Given the description of an element on the screen output the (x, y) to click on. 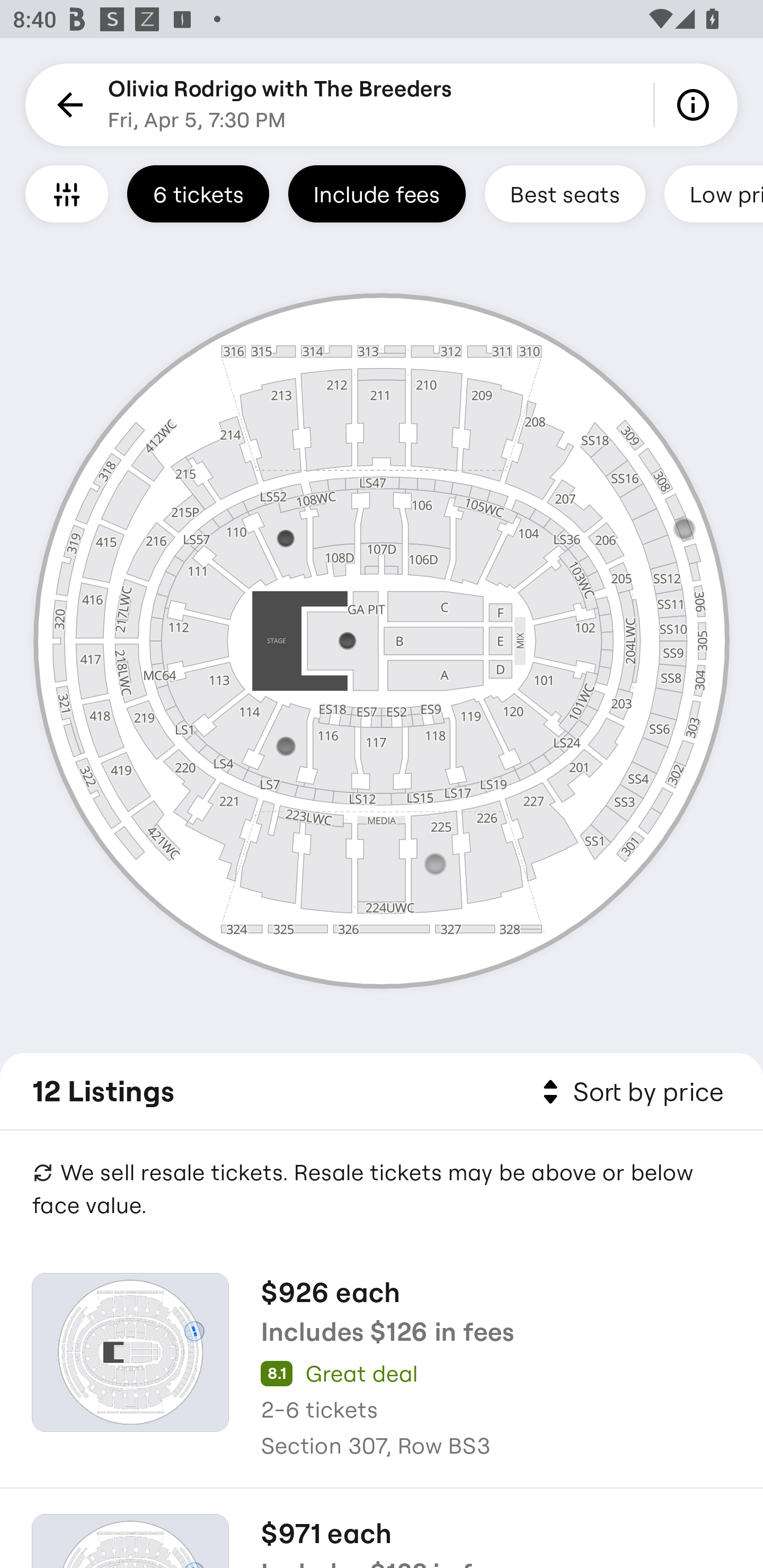
Back (66, 104)
Info (695, 104)
Filters and Accessible Seating (66, 193)
6 tickets (198, 193)
Include fees (376, 193)
Best seats (564, 193)
Sort by price (629, 1091)
